Given the description of an element on the screen output the (x, y) to click on. 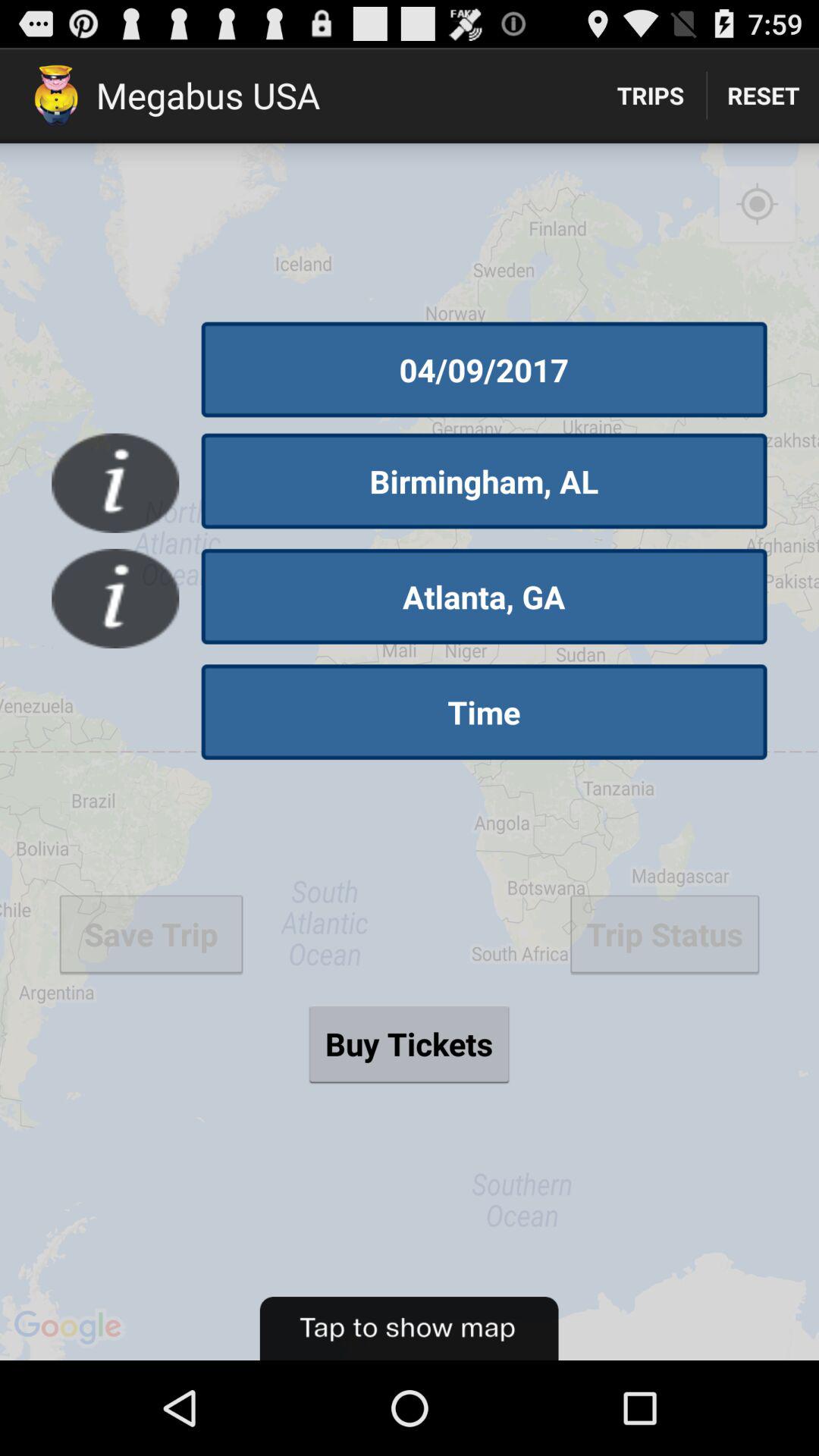
choose the button above the save trip (484, 711)
